Given the description of an element on the screen output the (x, y) to click on. 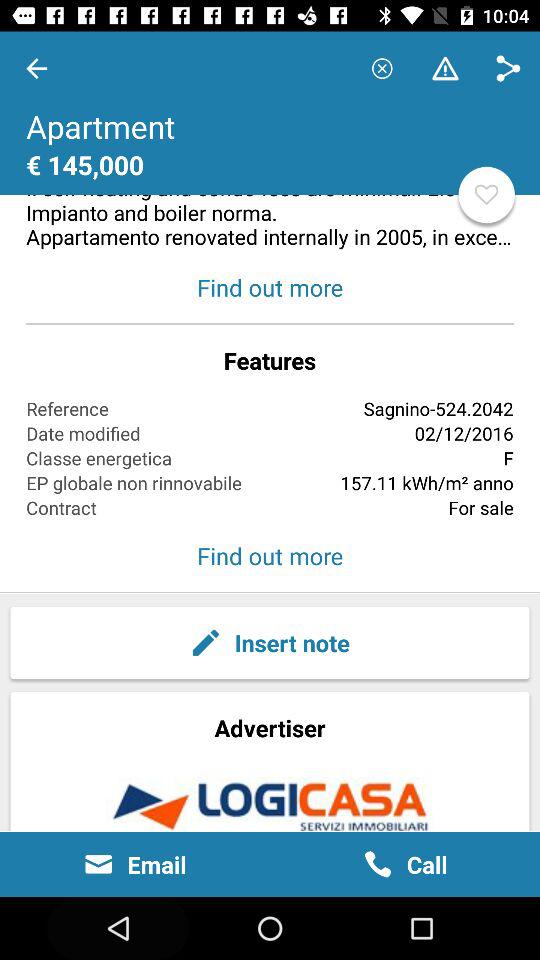
go back (36, 68)
